Given the description of an element on the screen output the (x, y) to click on. 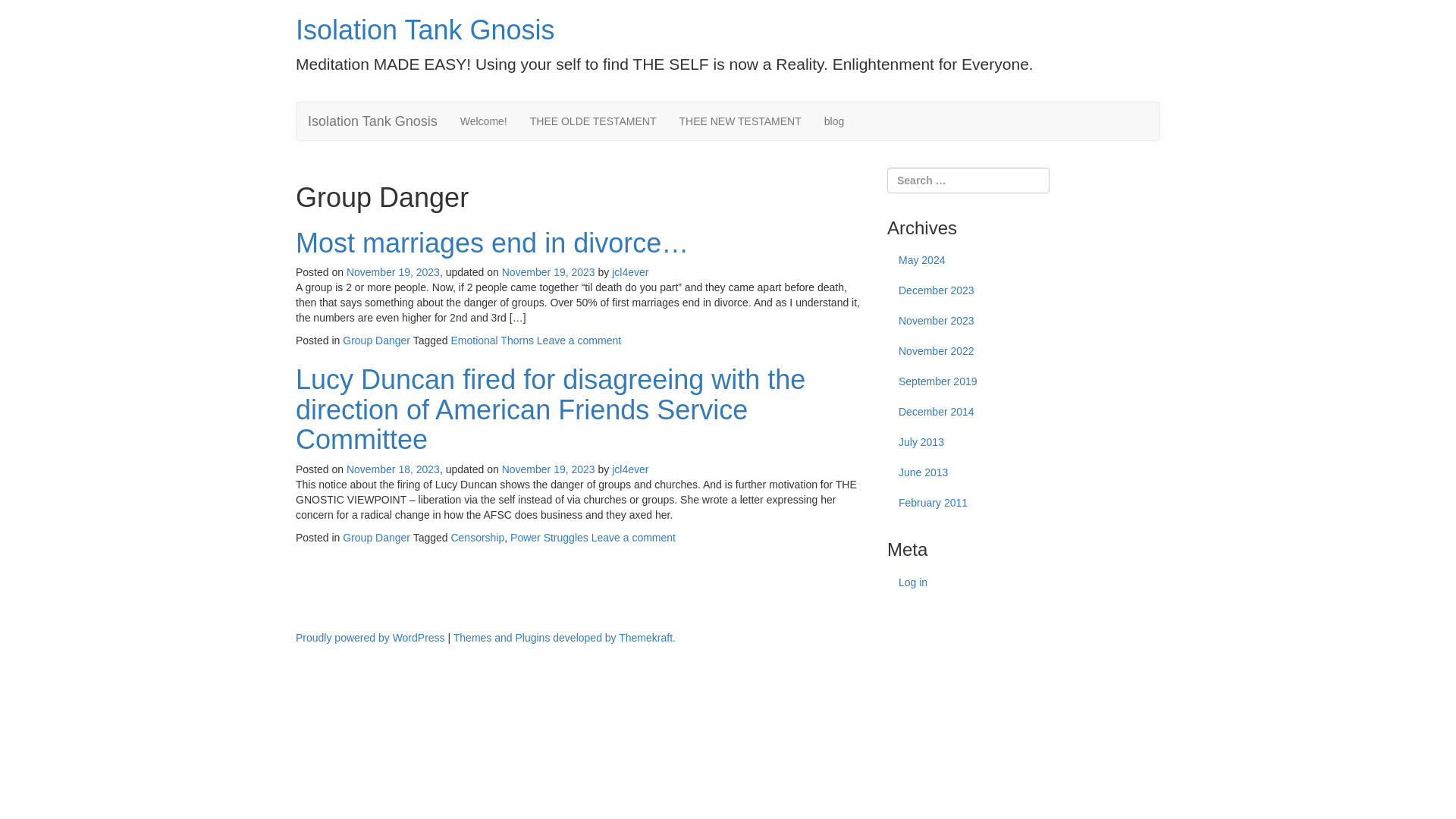
Group Danger (376, 340)
THEE OLDE TESTAMENT (593, 121)
May 2024 (1023, 260)
June 2013 (1023, 472)
Censorship (476, 537)
Isolation Tank Gnosis (424, 29)
THEE OLDE TESTAMENT (593, 121)
6:22 am (548, 272)
Welcome! (483, 121)
November 18, 2023 (392, 469)
July 2013 (1023, 442)
Isolation Tank Gnosis (372, 121)
September 2019 (1023, 381)
Power Struggles (549, 537)
6:22 am (392, 272)
